Given the description of an element on the screen output the (x, y) to click on. 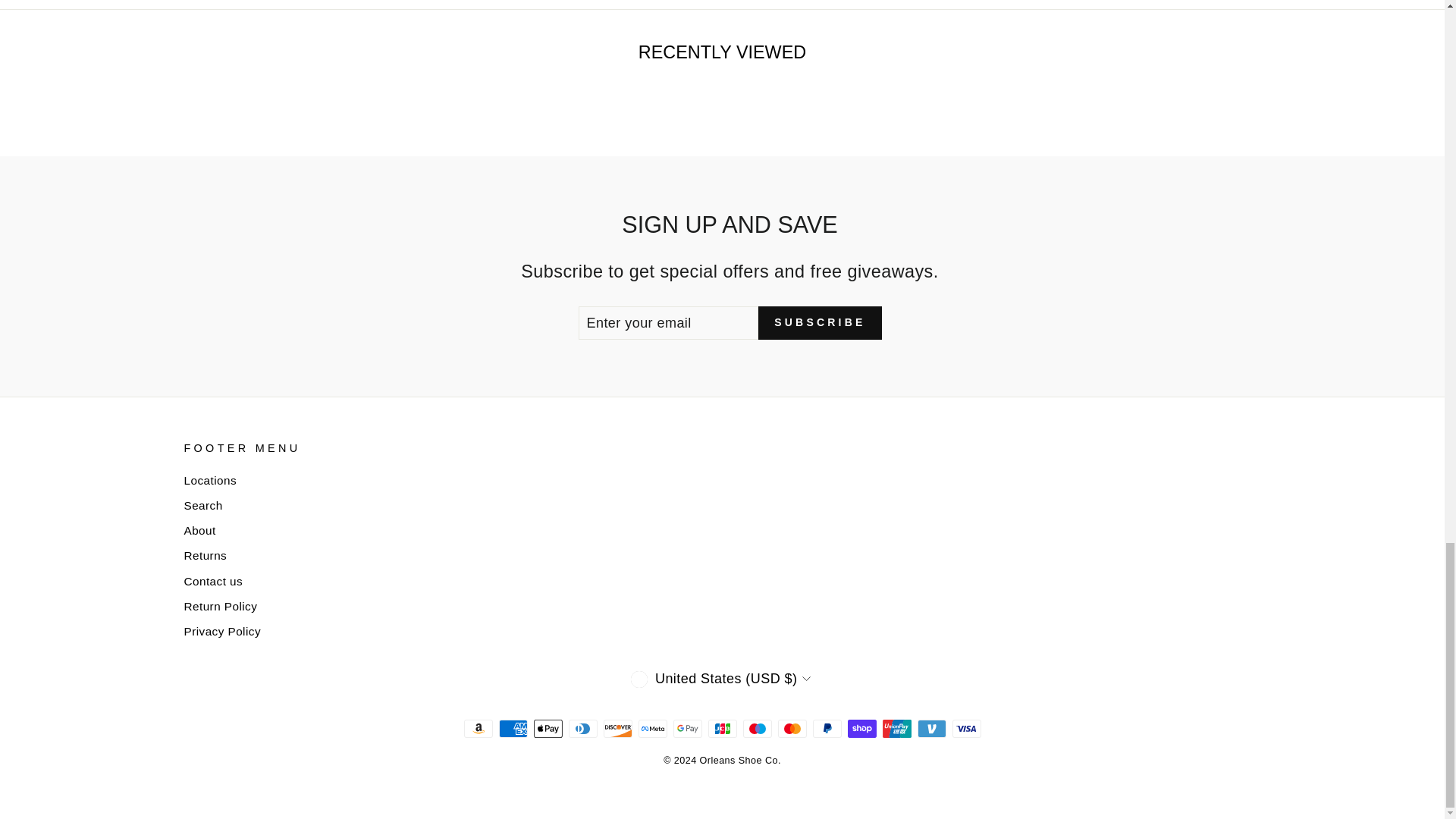
Apple Pay (548, 728)
American Express (513, 728)
Amazon (478, 728)
